Given the description of an element on the screen output the (x, y) to click on. 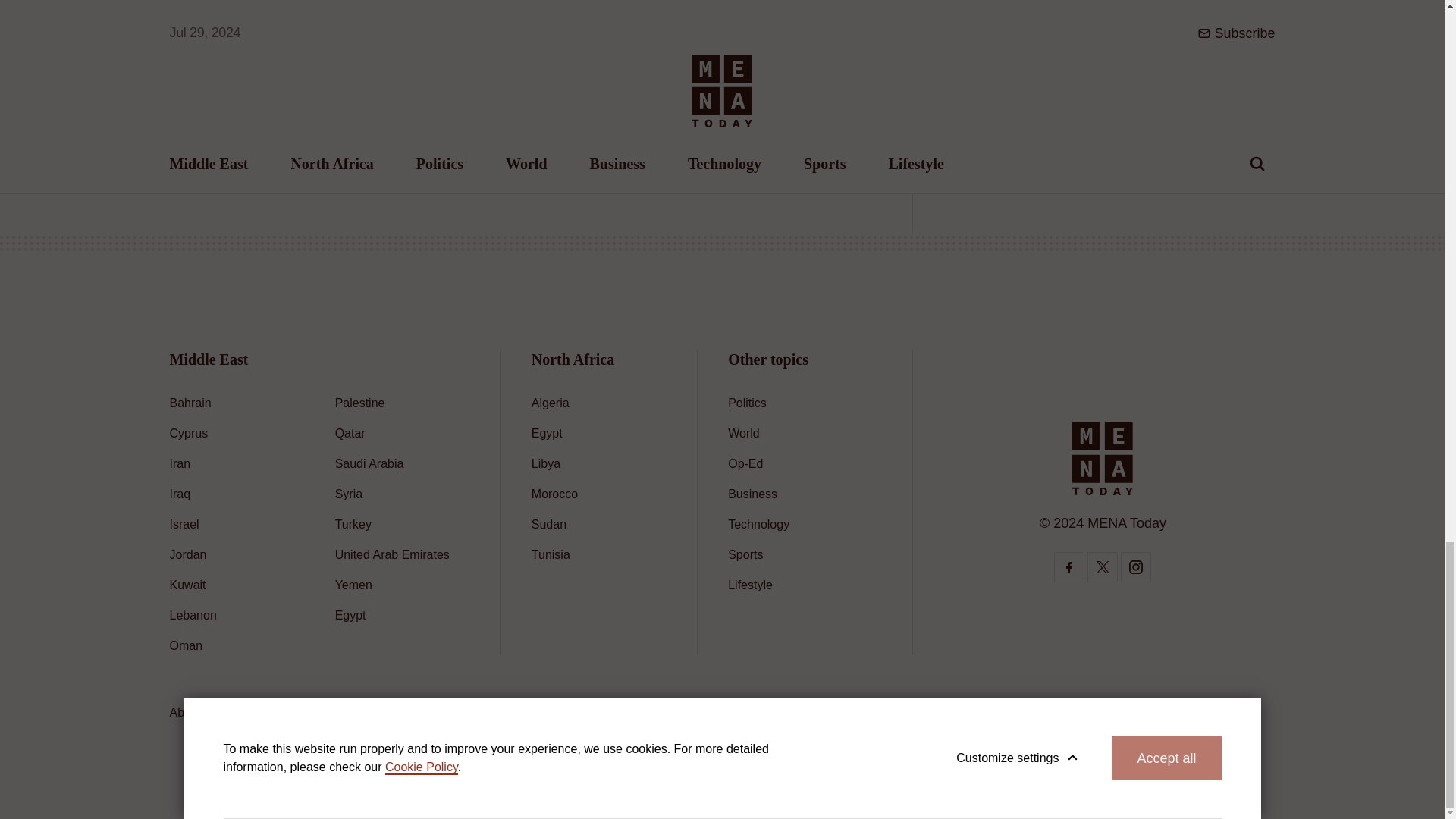
Qatar (349, 432)
Palestine (359, 402)
Syria (348, 493)
Jordan (188, 554)
Yemen (353, 584)
Saudi Arabia (369, 463)
Oman (186, 645)
Bahrain (190, 402)
United Arab Emirates (391, 554)
Cyprus (189, 432)
About us (194, 712)
Egypt (350, 615)
Kuwait (188, 584)
Turkey (352, 523)
Iraq (180, 493)
